Given the description of an element on the screen output the (x, y) to click on. 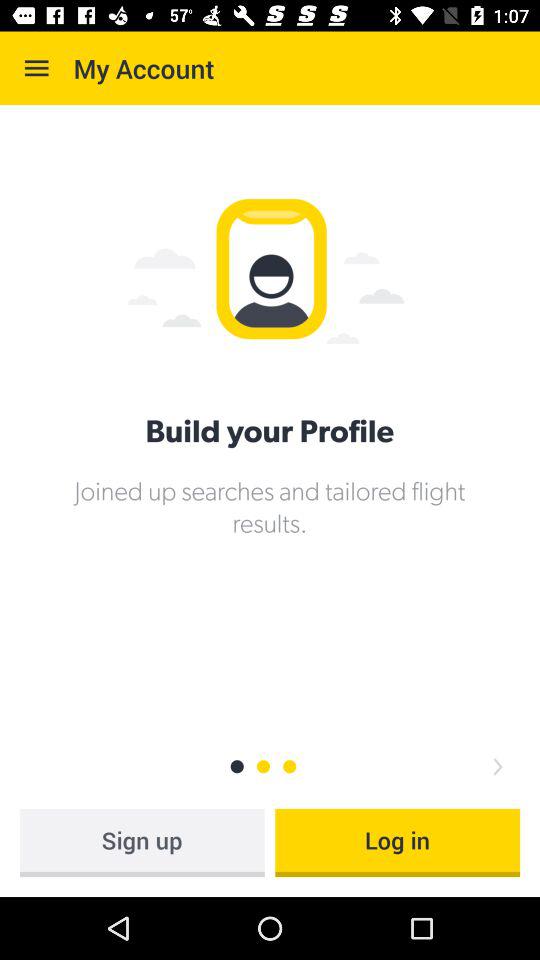
go forward (498, 766)
